Given the description of an element on the screen output the (x, y) to click on. 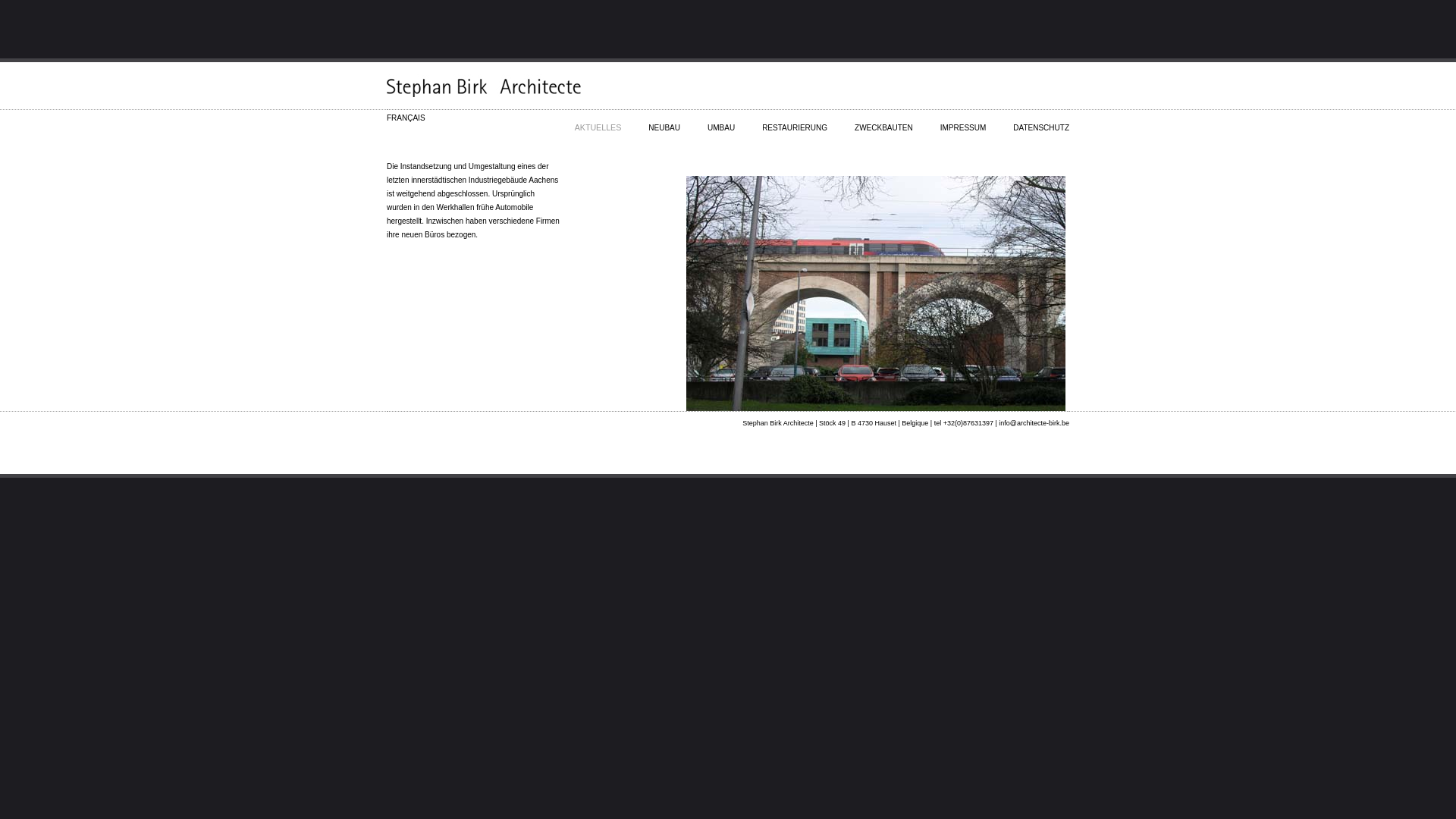
RESTAURIERUNG Element type: text (794, 120)
UMBAU Element type: text (720, 120)
AKTUELLES Element type: text (597, 120)
ZWECKBAUTEN Element type: text (883, 120)
IMPRESSUM Element type: text (963, 120)
DATENSCHUTZ Element type: text (1041, 120)
NEUBAU Element type: text (664, 120)
